Given the description of an element on the screen output the (x, y) to click on. 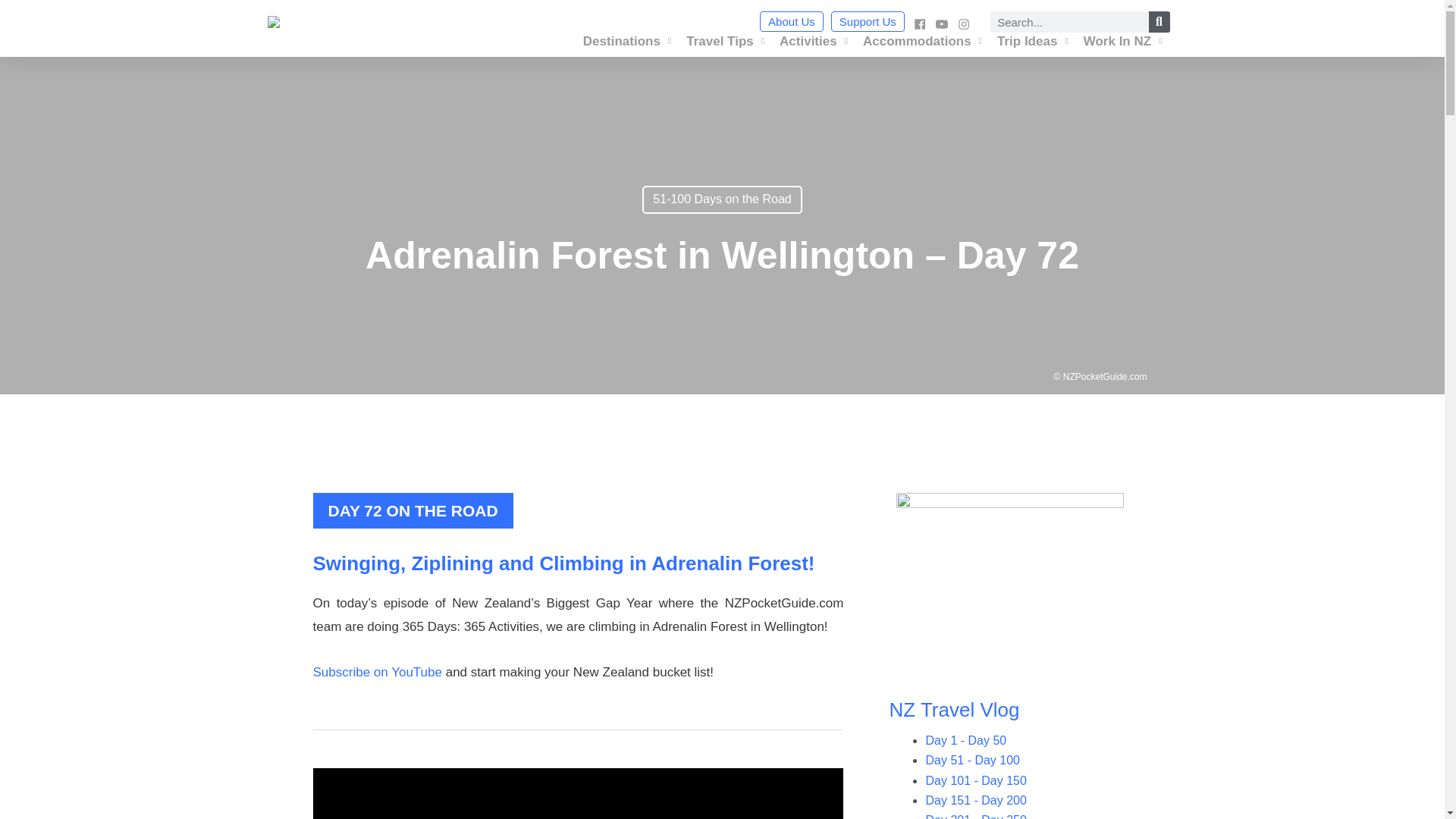
Search (1158, 21)
Destinations (627, 41)
About Us (792, 21)
Support Us (867, 21)
